Given the description of an element on the screen output the (x, y) to click on. 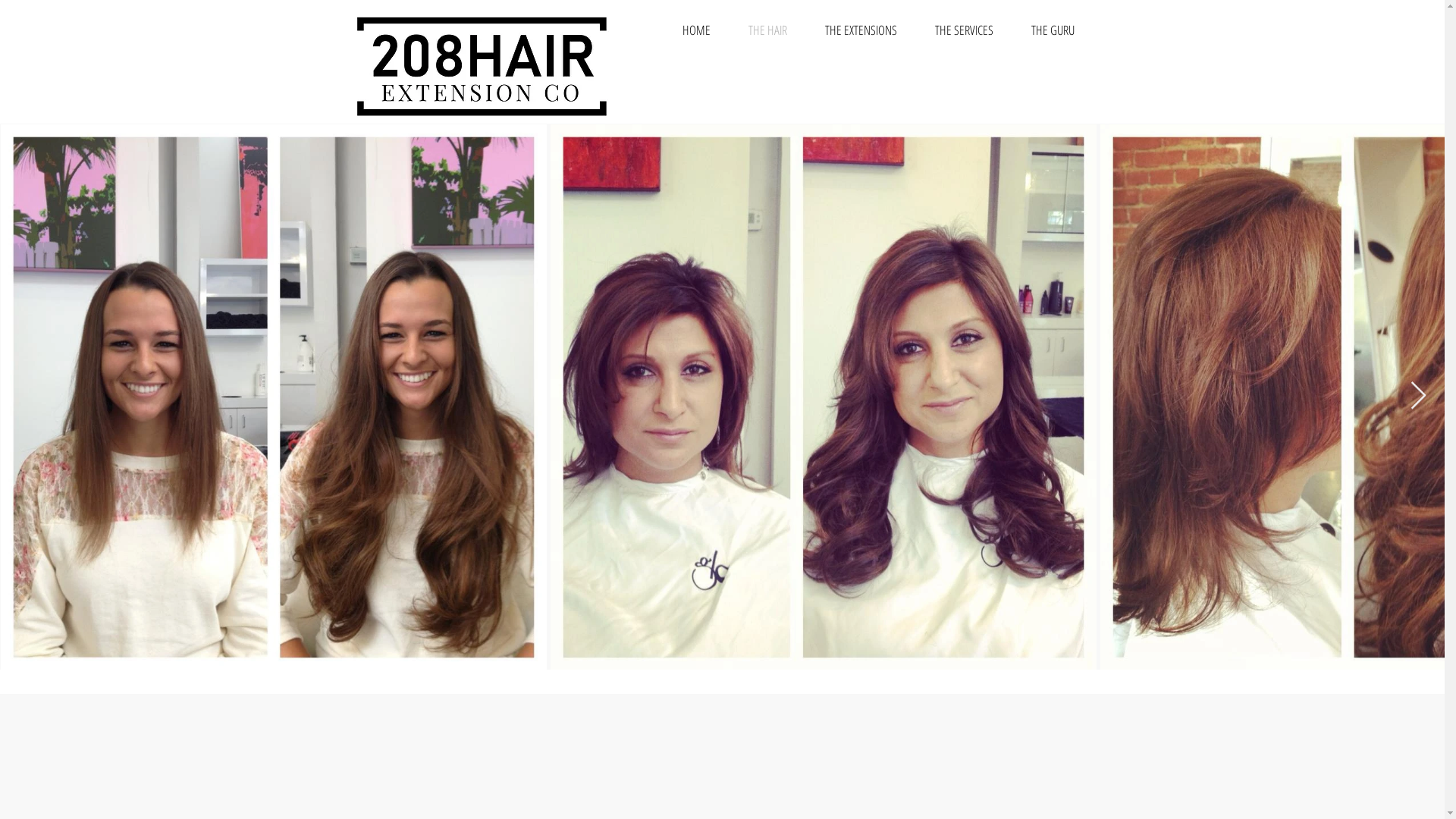
THE HAIR Element type: text (767, 29)
HOME Element type: text (695, 29)
THE GURU Element type: text (1051, 29)
THE SERVICES Element type: text (964, 29)
THE EXTENSIONS Element type: text (860, 29)
